Given the description of an element on the screen output the (x, y) to click on. 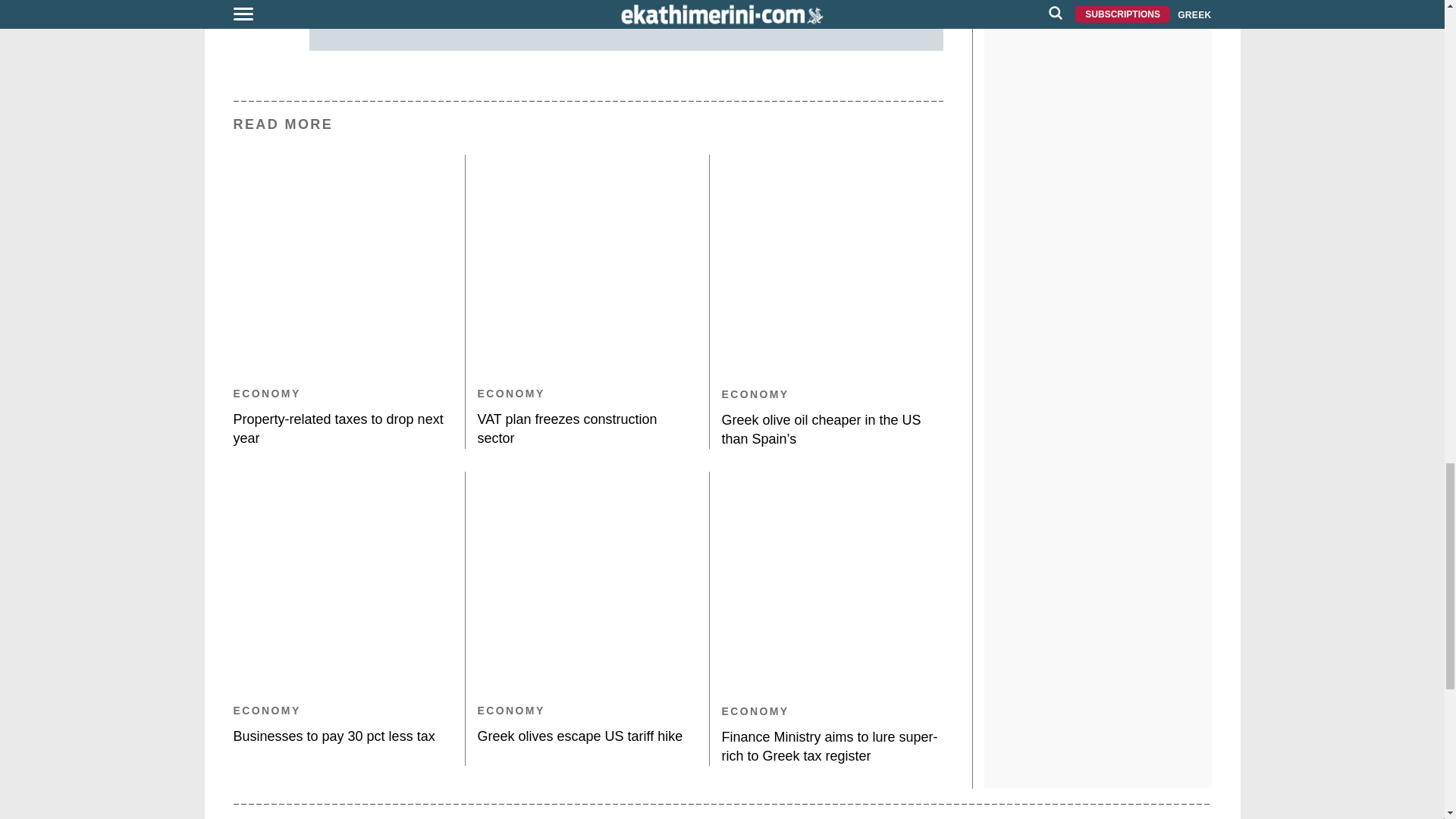
on (347, 1)
